Given the description of an element on the screen output the (x, y) to click on. 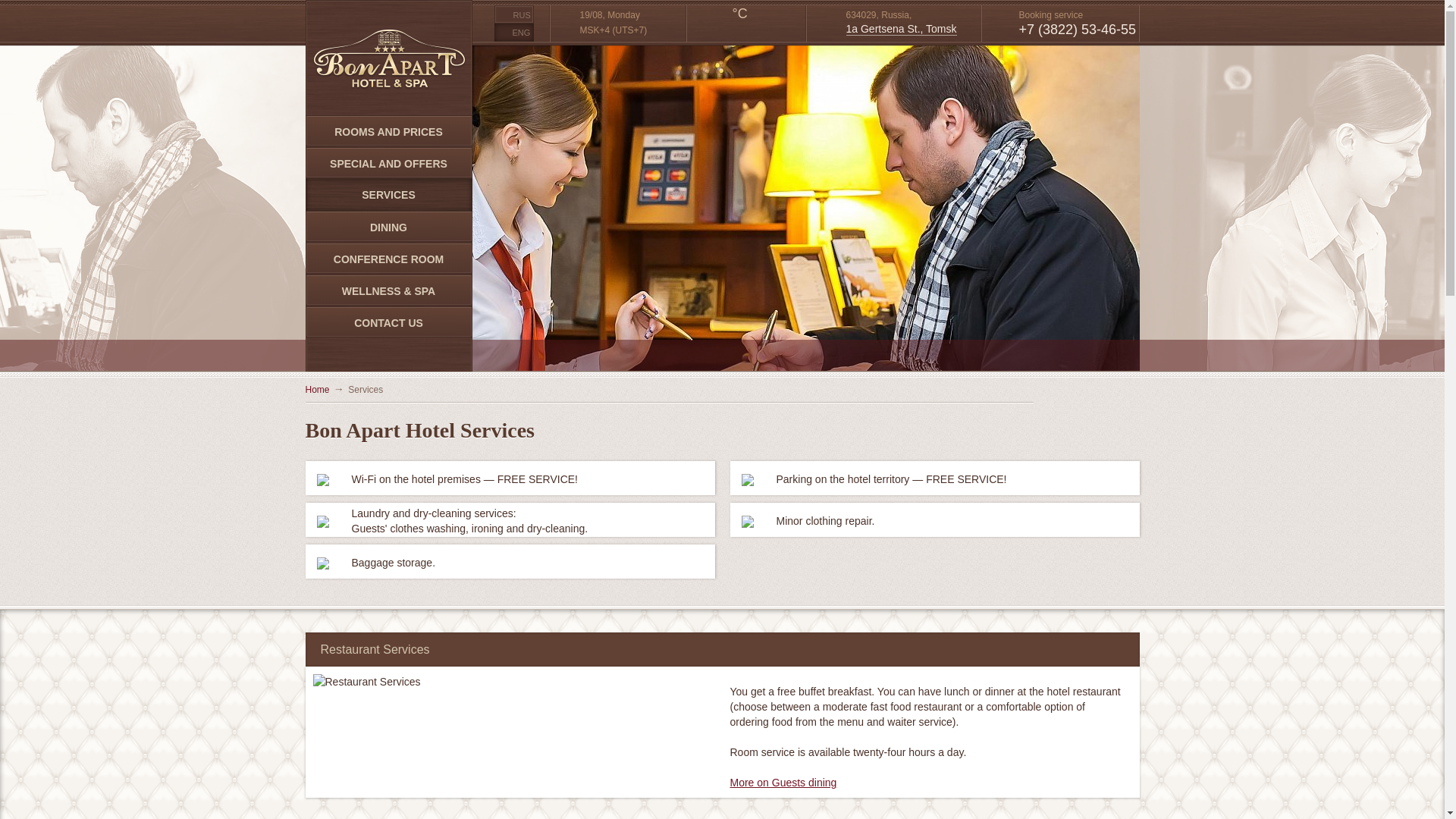
CONFERENCE ROOM (388, 259)
CONTACT US (388, 323)
More on Guests dining (782, 782)
Home (316, 389)
Home (316, 389)
More on Guests dining (782, 782)
ENG (514, 32)
DINING (388, 227)
SERVICES (387, 194)
ROOMS AND PRICES (388, 132)
